Given the description of an element on the screen output the (x, y) to click on. 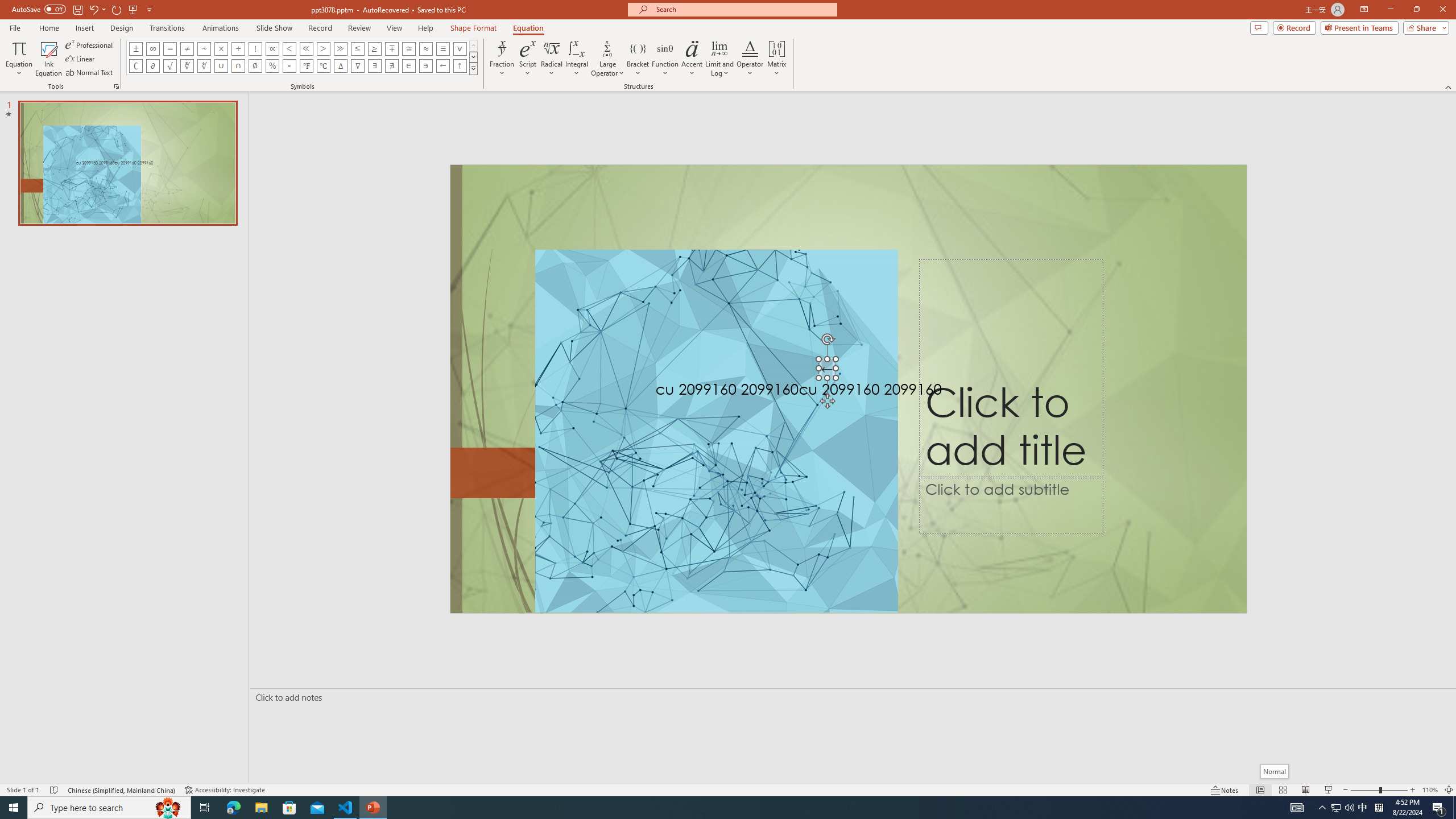
Professional (90, 44)
Equation Symbol Multiplication Sign (221, 48)
Equation Symbol Fourth Root (203, 65)
Equation Symbol Greater Than (322, 48)
Equation Symbol Empty Set (255, 65)
Radical (552, 58)
Function (664, 58)
